Given the description of an element on the screen output the (x, y) to click on. 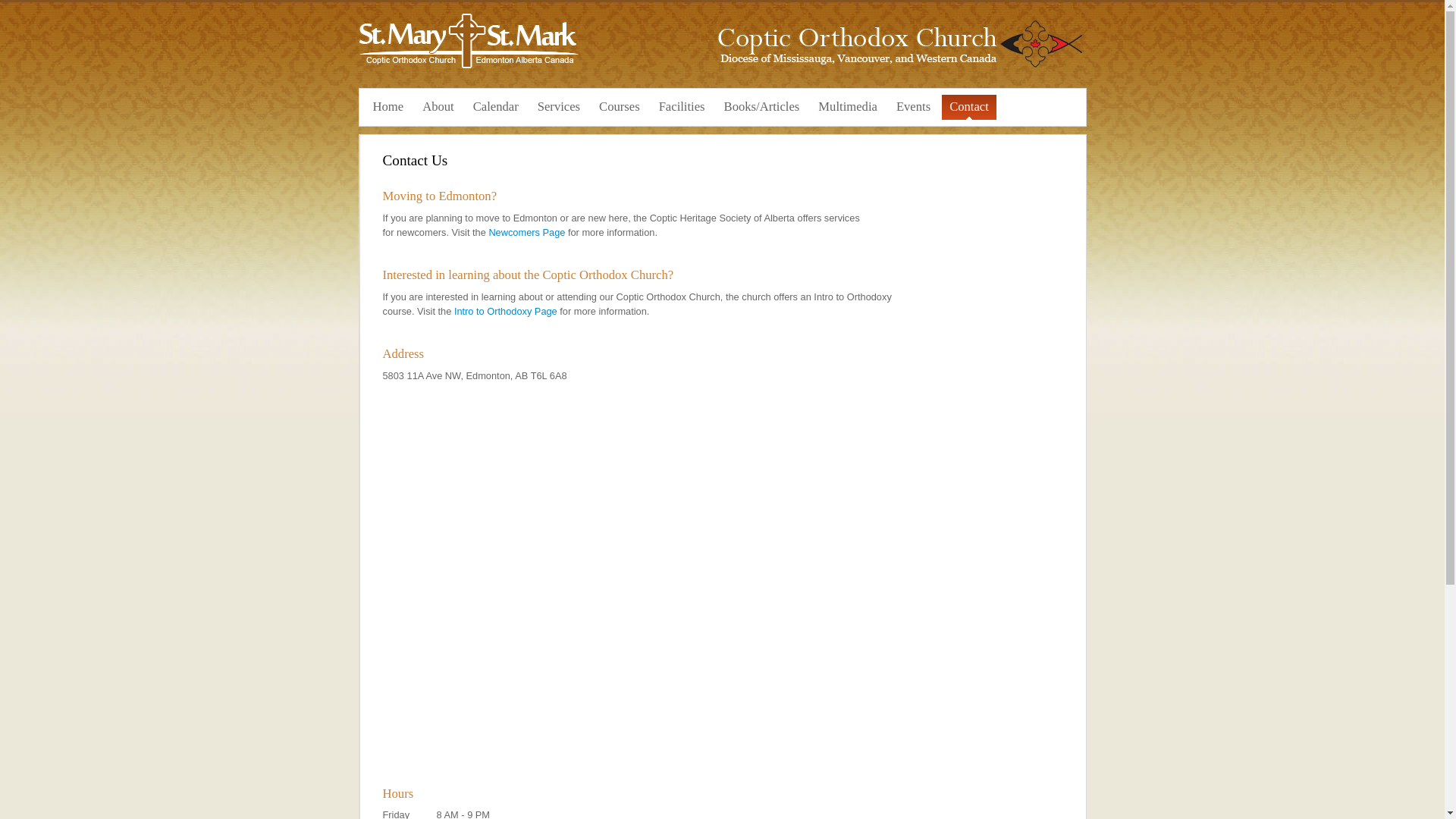
Home (388, 107)
About (437, 107)
Services (558, 107)
Courses (619, 107)
Calendar (495, 107)
Facilities (681, 107)
